Given the description of an element on the screen output the (x, y) to click on. 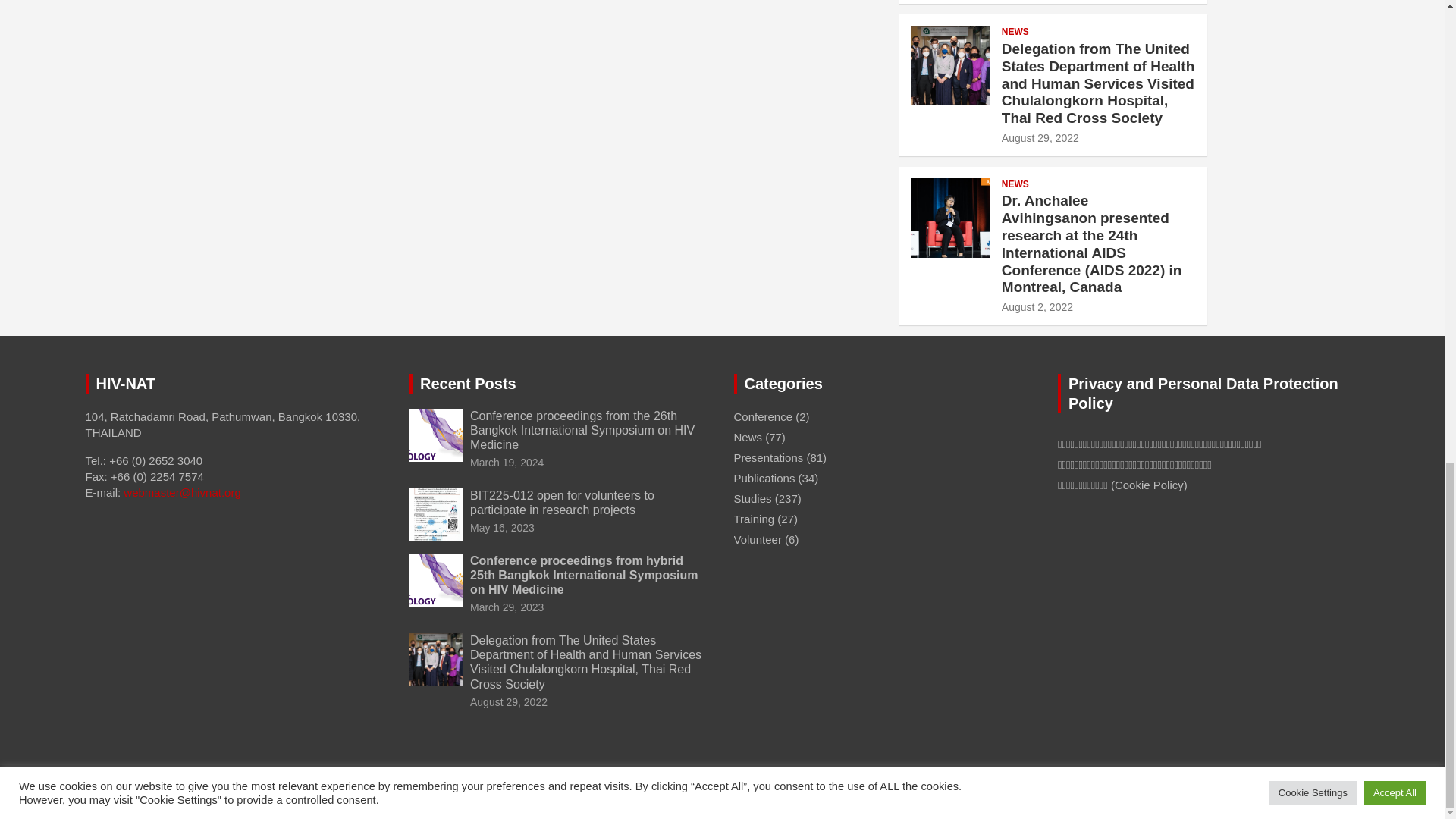
HIV-NAT (199, 791)
